Given the description of an element on the screen output the (x, y) to click on. 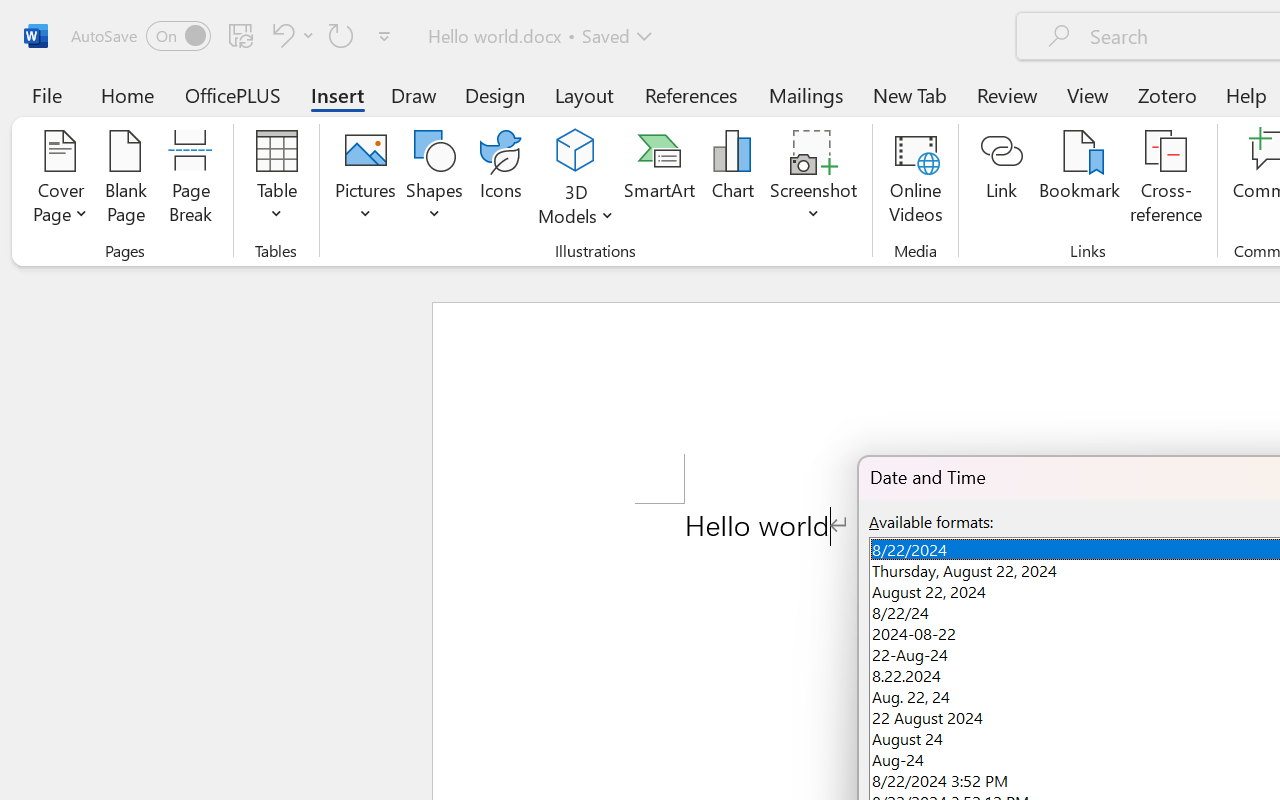
Pictures (365, 179)
Bookmark... (1079, 179)
More Options (576, 208)
Mailings (806, 94)
Chart... (732, 179)
Cross-reference... (1165, 179)
Screenshot (813, 179)
Shapes (435, 179)
Home (127, 94)
Quick Access Toolbar (233, 36)
Can't Undo (280, 35)
Online Videos... (915, 179)
SmartArt... (659, 179)
Page Break (190, 179)
New Tab (909, 94)
